Given the description of an element on the screen output the (x, y) to click on. 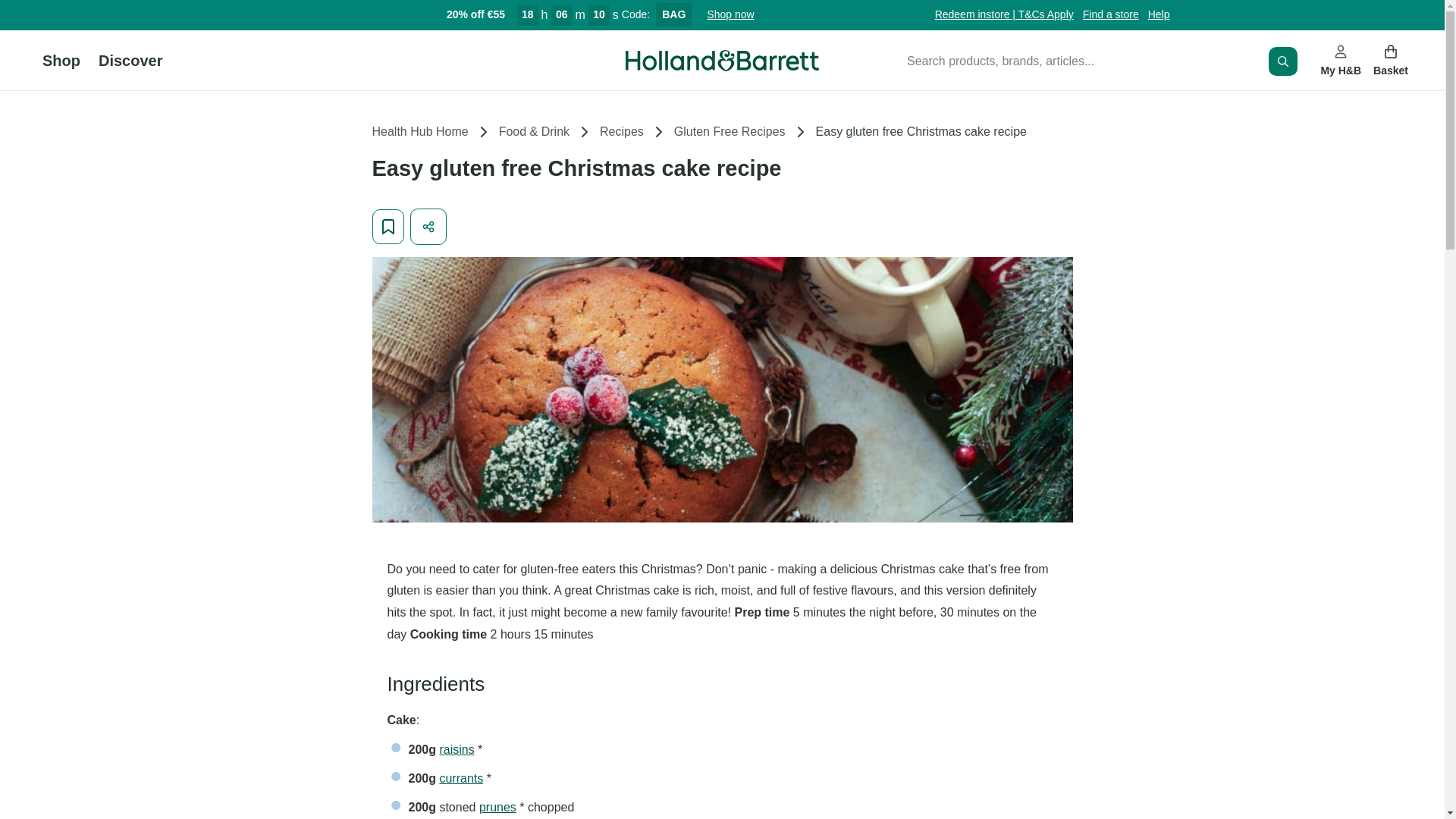
Save article (387, 226)
Find a store (1110, 14)
Help (1159, 14)
Shop now (730, 14)
Share article (427, 226)
